Given the description of an element on the screen output the (x, y) to click on. 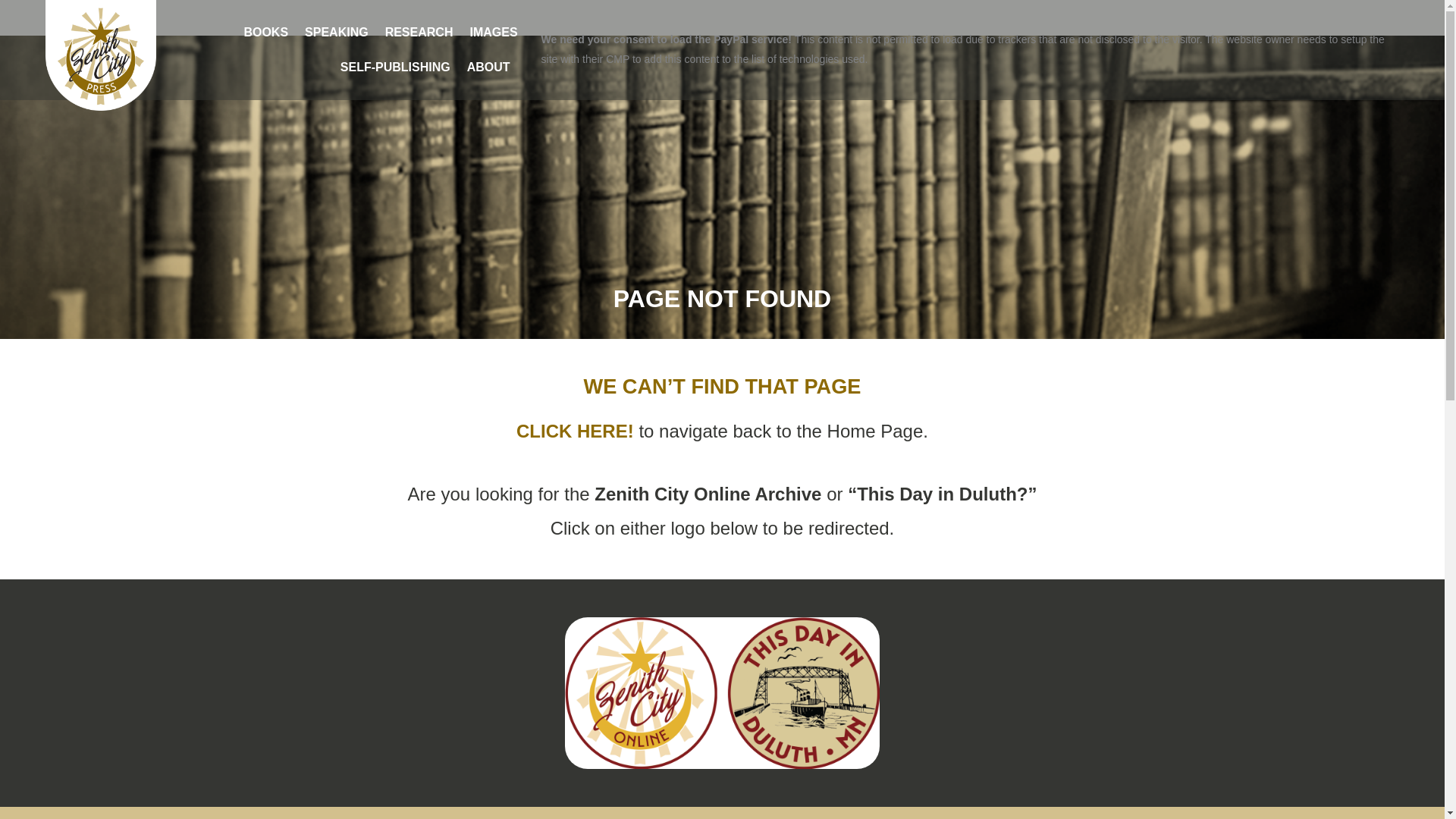
CLICK HERE! (577, 430)
RESEARCH (419, 32)
Page 7 (721, 511)
BOOKS (265, 32)
SELF-PUBLISHING (394, 67)
ABOUT (491, 67)
SPEAKING (337, 32)
IMAGES (493, 32)
